Given the description of an element on the screen output the (x, y) to click on. 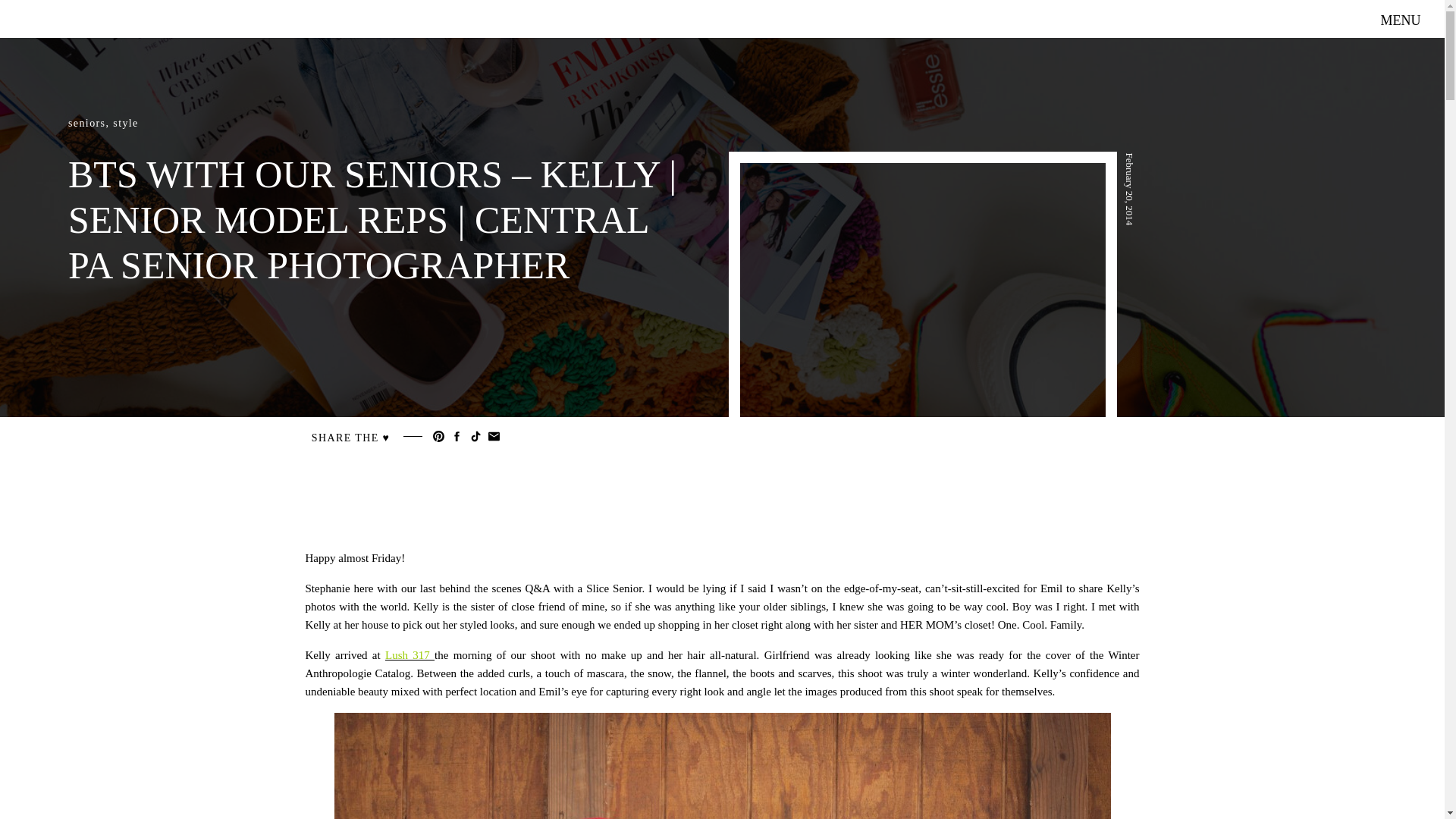
Lush 317 (409, 654)
style (125, 122)
seniors (86, 122)
